Given the description of an element on the screen output the (x, y) to click on. 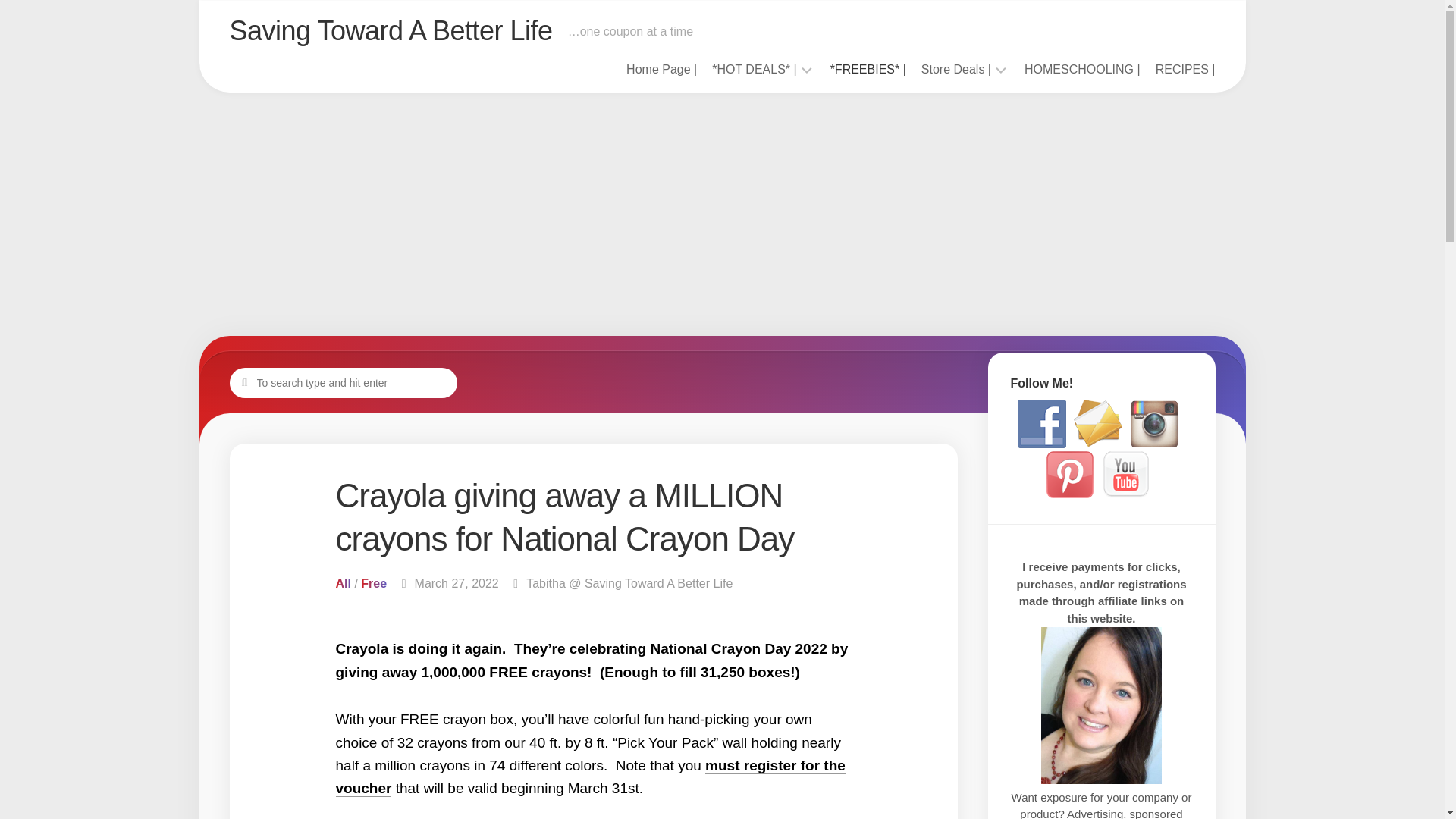
Store Deals (956, 69)
To search type and hit enter (342, 381)
To search type and hit enter (342, 381)
Saving Toward A Better Life (389, 31)
Free (374, 583)
All (342, 583)
Home (661, 69)
